Given the description of an element on the screen output the (x, y) to click on. 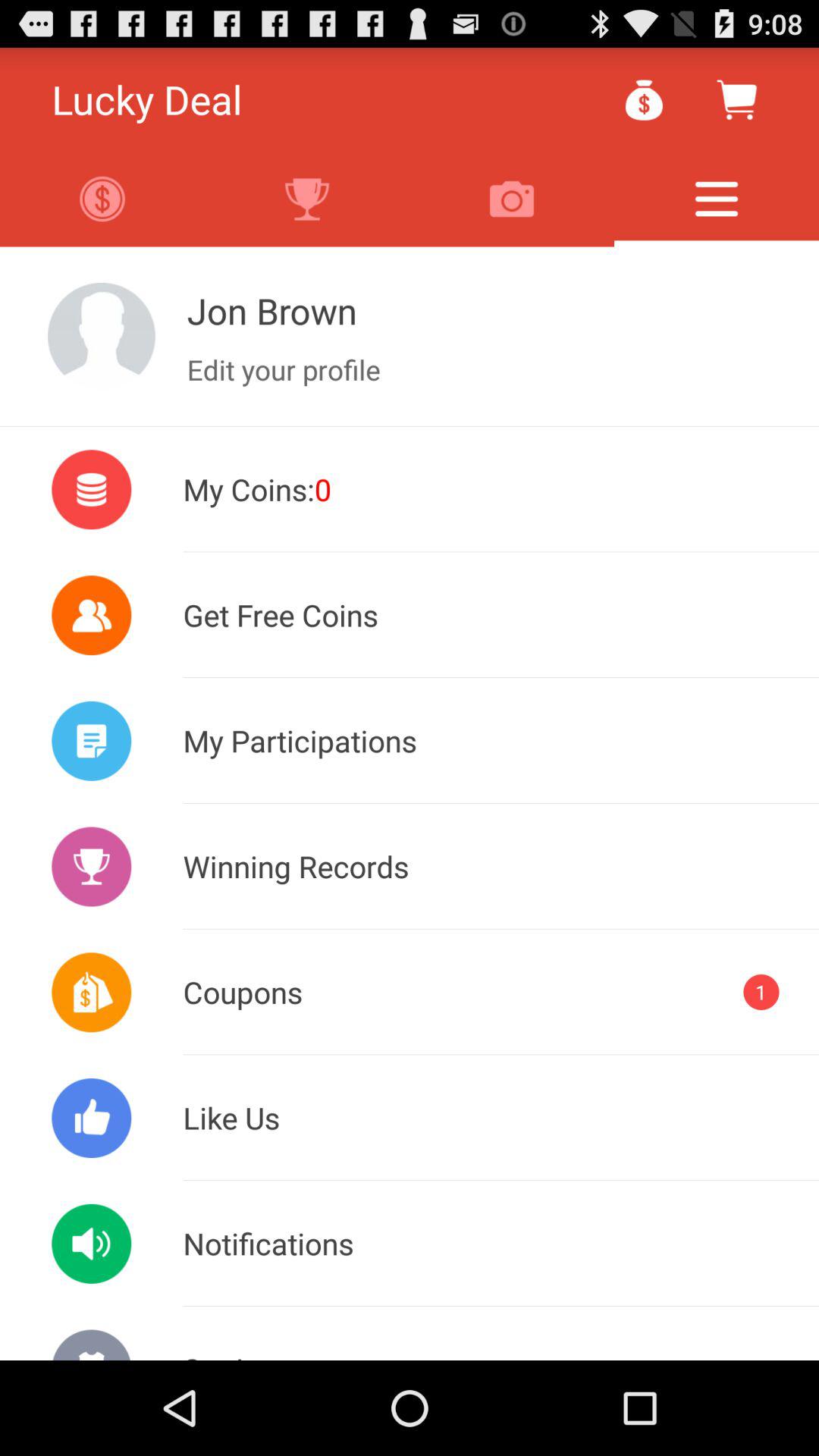
open shopping cart (736, 99)
